Given the description of an element on the screen output the (x, y) to click on. 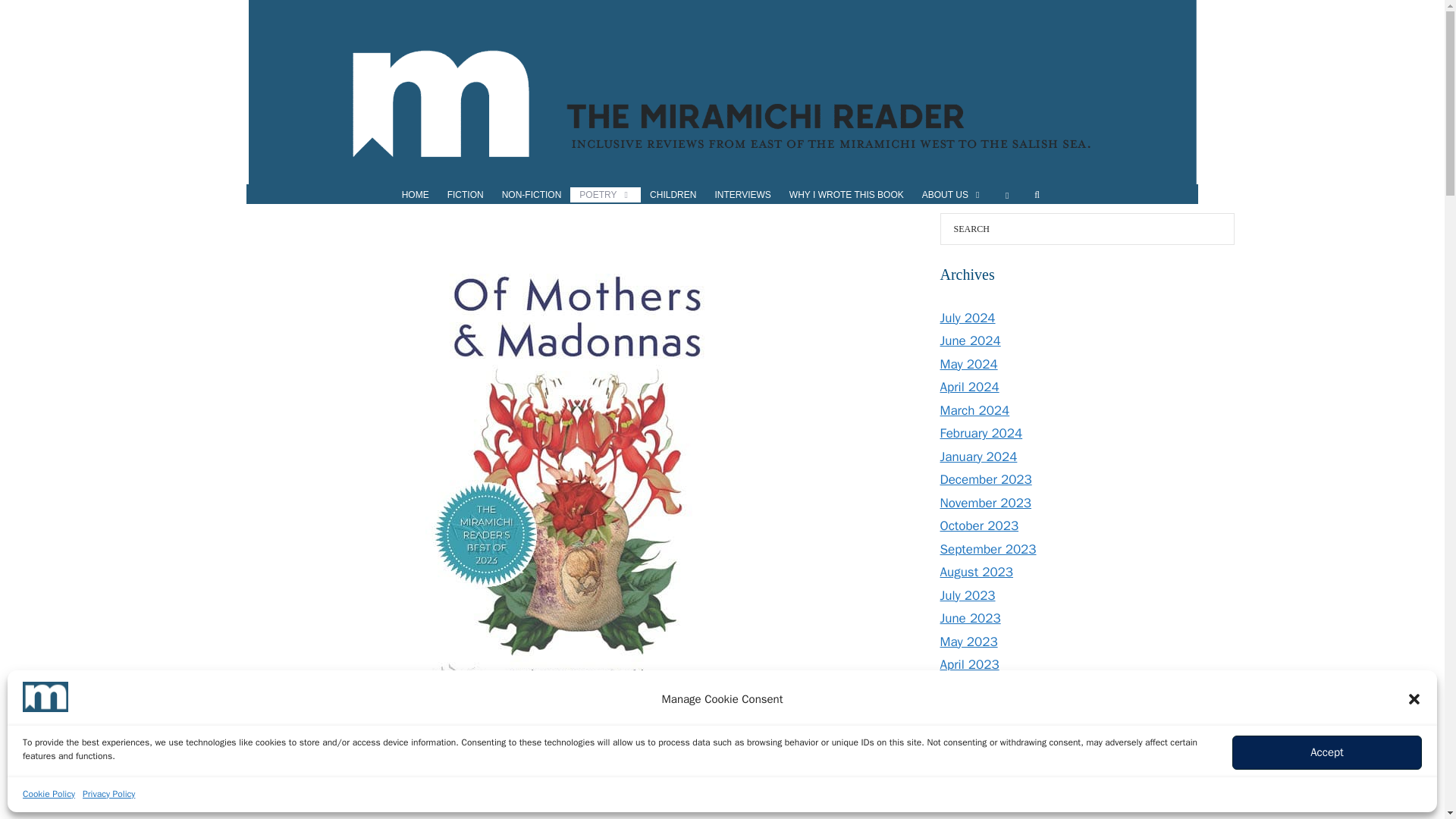
WHY I WROTE THIS BOOK (846, 194)
TMR Home Page (415, 194)
FICTION (465, 194)
INTERVIEWS (741, 194)
View all posts by Carrie Stanton (364, 771)
NON-FICTION (531, 194)
HOME (415, 194)
ABOUT US (952, 194)
CHILDREN (672, 194)
POETRY (605, 194)
